Given the description of an element on the screen output the (x, y) to click on. 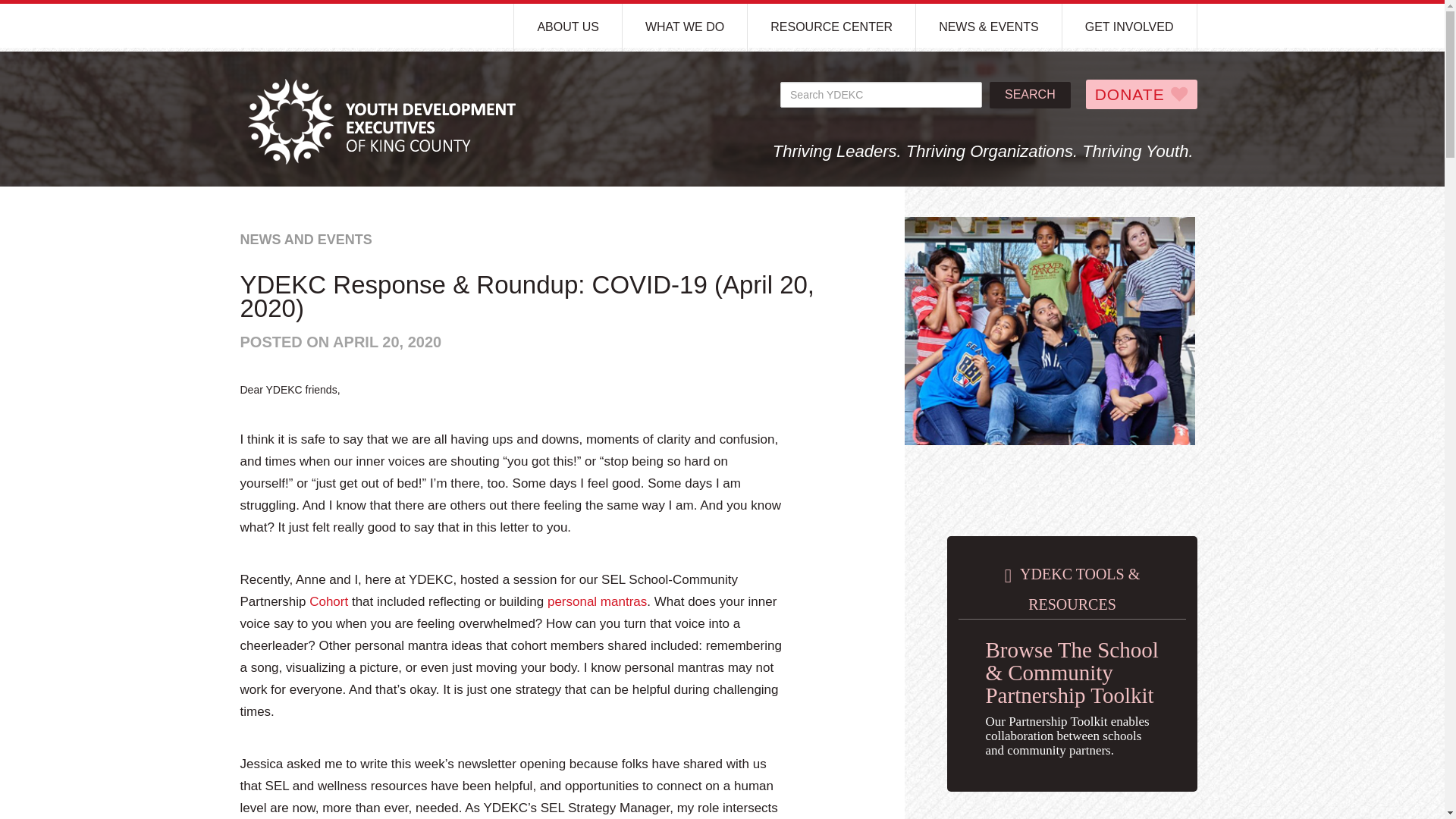
GET INVOLVED (1129, 27)
ABOUT US (568, 27)
DONATE (1141, 93)
RESOURCE CENTER (831, 27)
Cohort (327, 601)
SEARCH (1030, 94)
personal mantras (596, 601)
WHAT WE DO (685, 27)
